Given the description of an element on the screen output the (x, y) to click on. 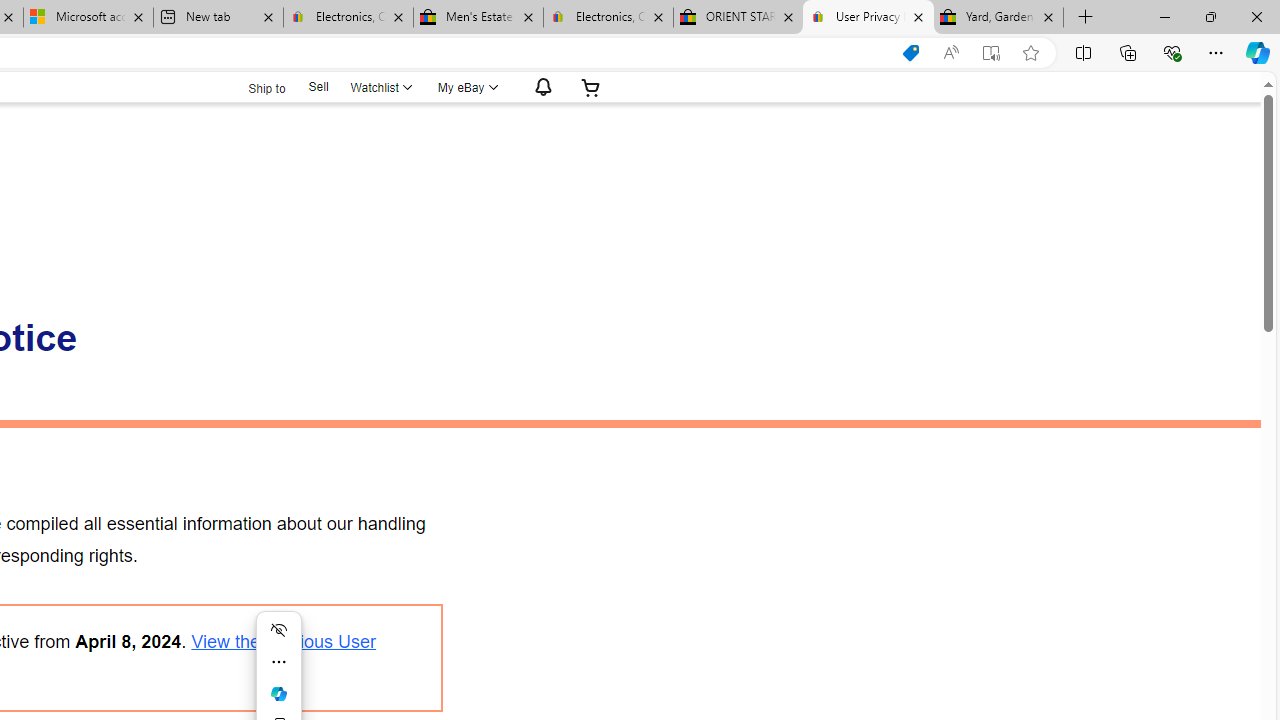
My eBayExpand My eBay (466, 87)
AutomationID: gh-eb-Alerts (540, 87)
